Given the description of an element on the screen output the (x, y) to click on. 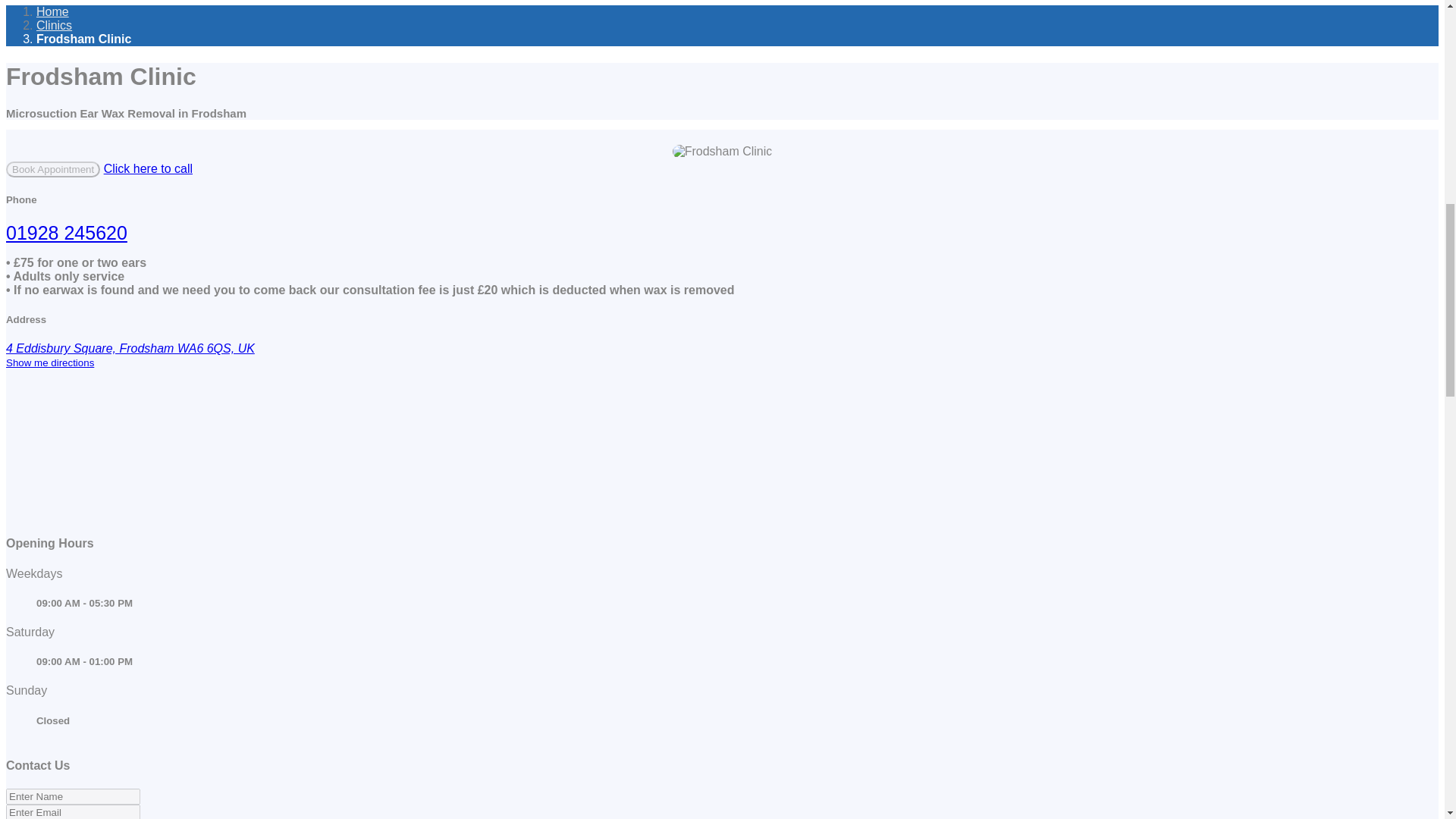
Book Appointment (52, 168)
Click here to call (147, 168)
Show me directions (49, 362)
01928 245620 (66, 232)
4 Eddisbury Square, Frodsham WA6 6QS, UK (129, 348)
Clinics (53, 24)
Home (52, 11)
Home (52, 11)
